Given the description of an element on the screen output the (x, y) to click on. 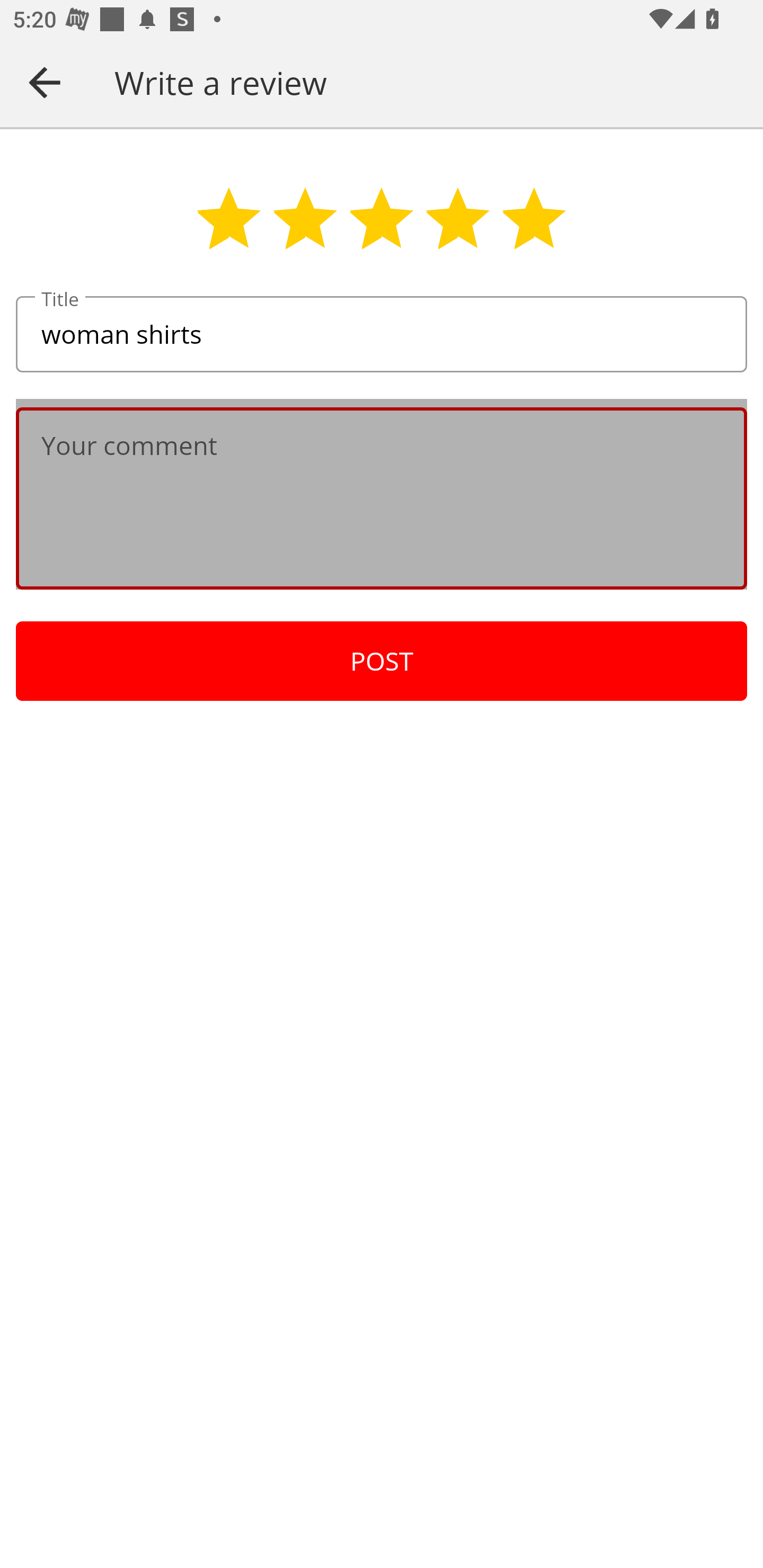
Navigate up (44, 82)
woman shirts (381, 334)
Your comment (381, 498)
POST (381, 660)
